Given the description of an element on the screen output the (x, y) to click on. 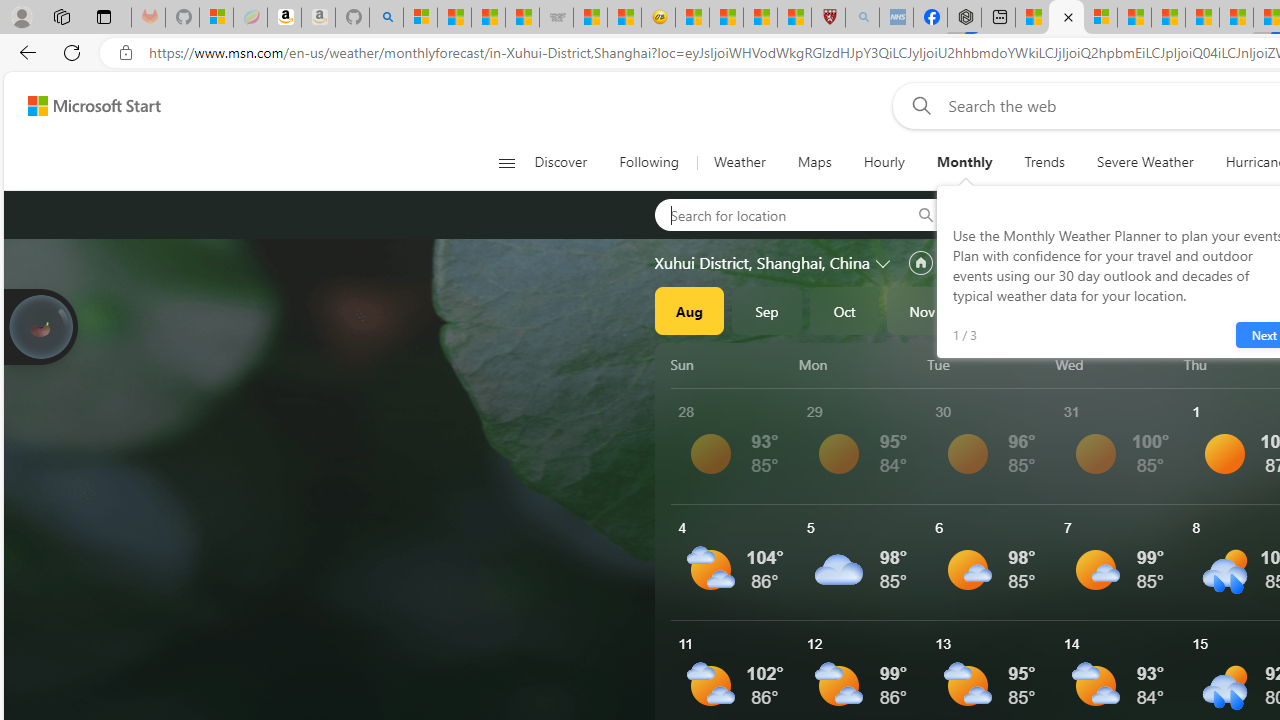
Tue (987, 363)
Oct (844, 310)
Hourly (884, 162)
Stocks - MSN (521, 17)
Class: button-glyph (505, 162)
Change location (884, 262)
Severe Weather (1145, 162)
Oct (844, 310)
